Given the description of an element on the screen output the (x, y) to click on. 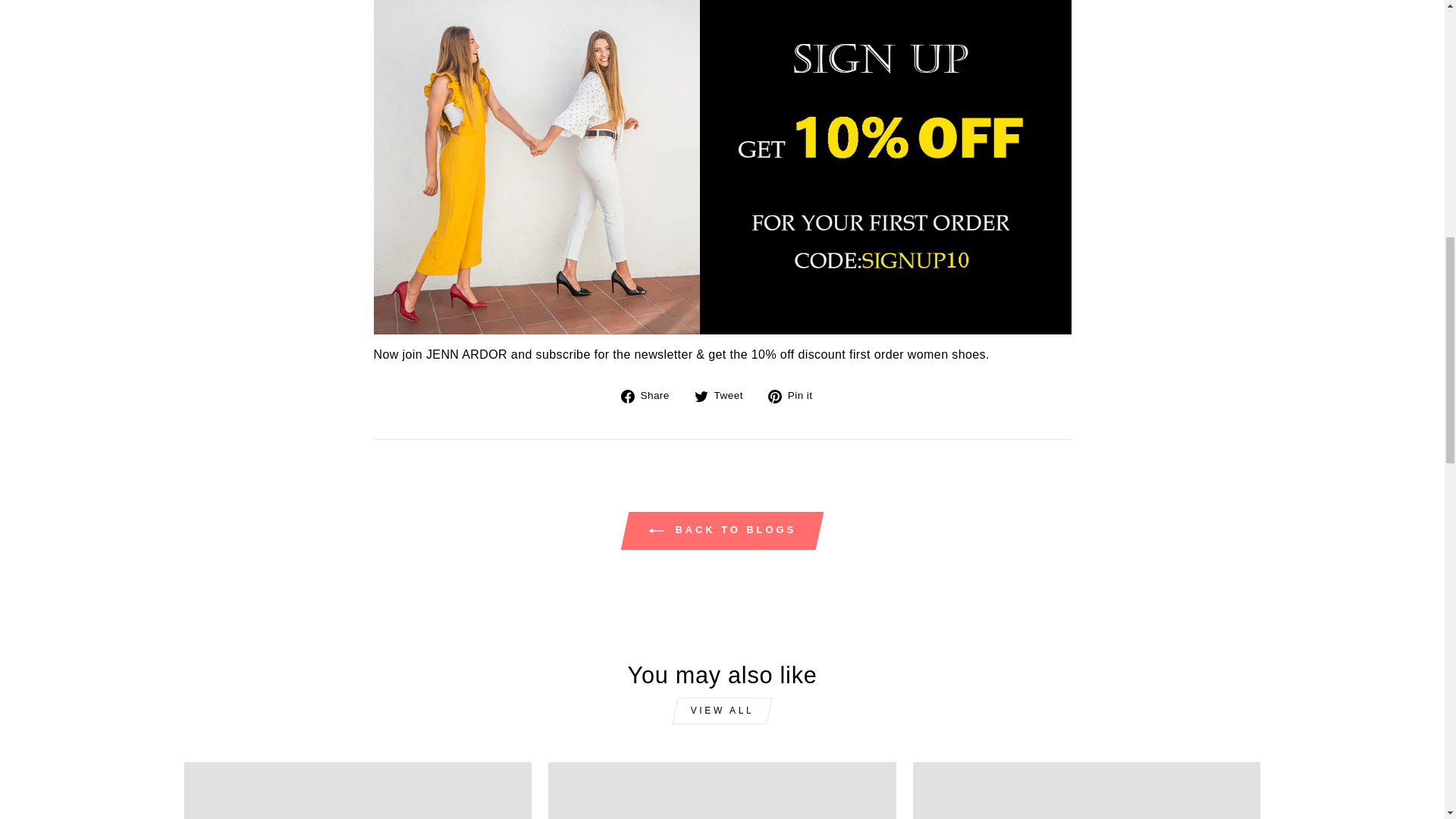
Pin on Pinterest (796, 395)
Share on Facebook (651, 395)
twitter (700, 396)
VIEW ALL (722, 710)
ICON-LEFT-ARROW (796, 395)
ICON-LEFT-ARROW BACK TO BLOGS (655, 530)
Tweet on Twitter (651, 395)
